Given the description of an element on the screen output the (x, y) to click on. 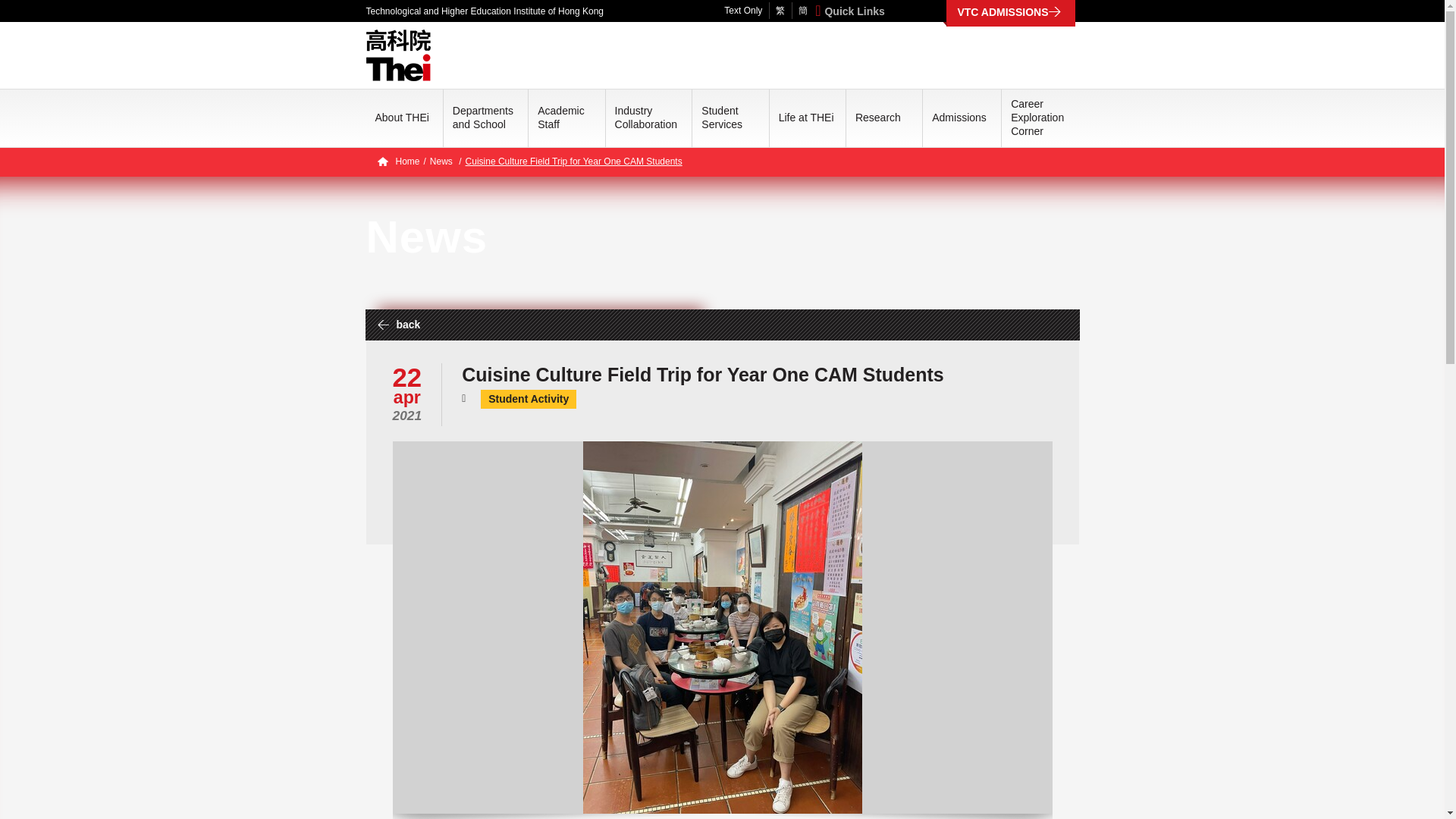
Academic Staff (560, 117)
Industry Collaboration (646, 117)
Departments and School (482, 117)
Text Only (741, 10)
VTC ADMISSIONS (1010, 13)
About THEi (401, 117)
